Given the description of an element on the screen output the (x, y) to click on. 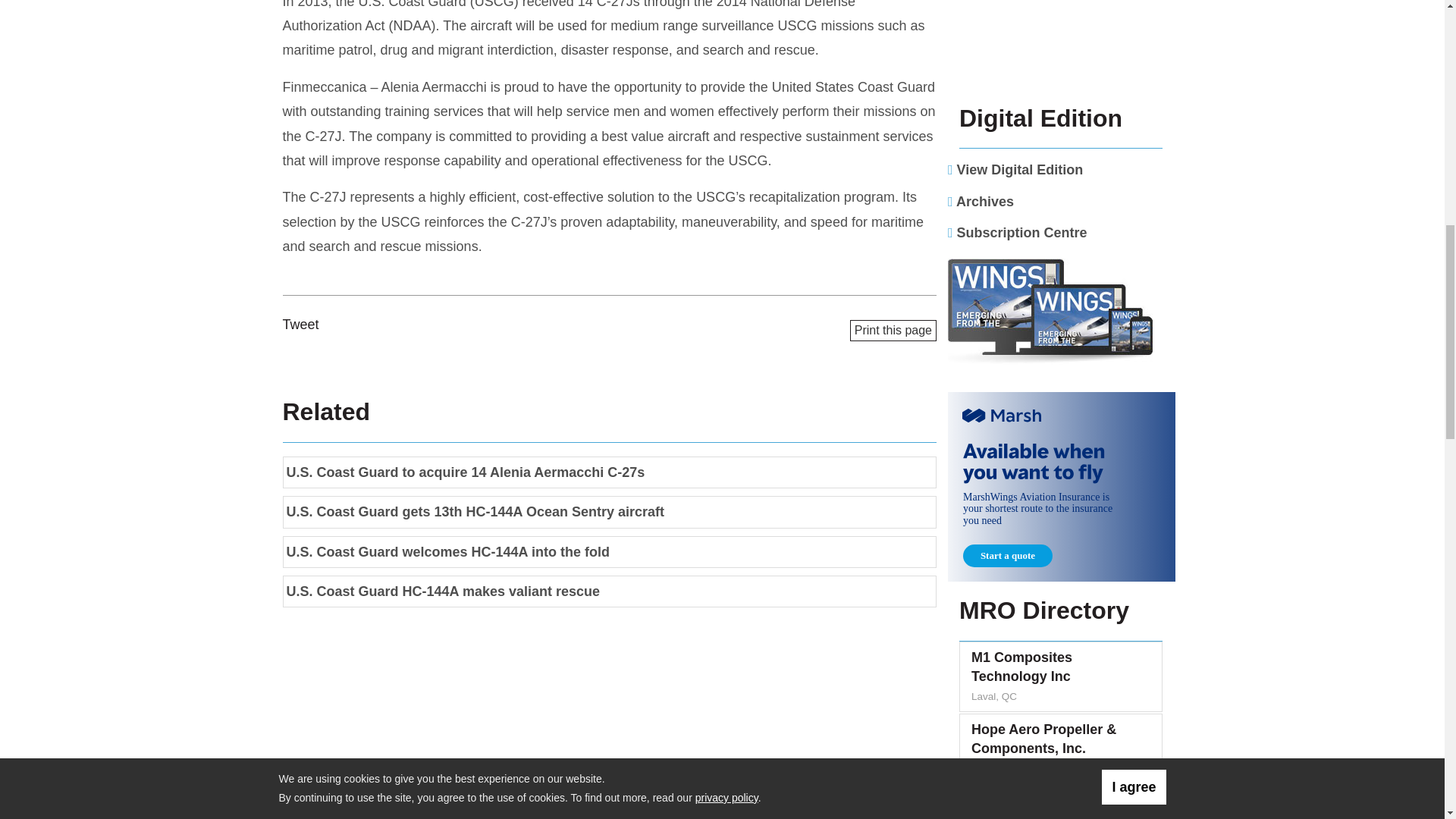
3rd party ad content (1060, 44)
3rd party ad content (1060, 486)
